Given the description of an element on the screen output the (x, y) to click on. 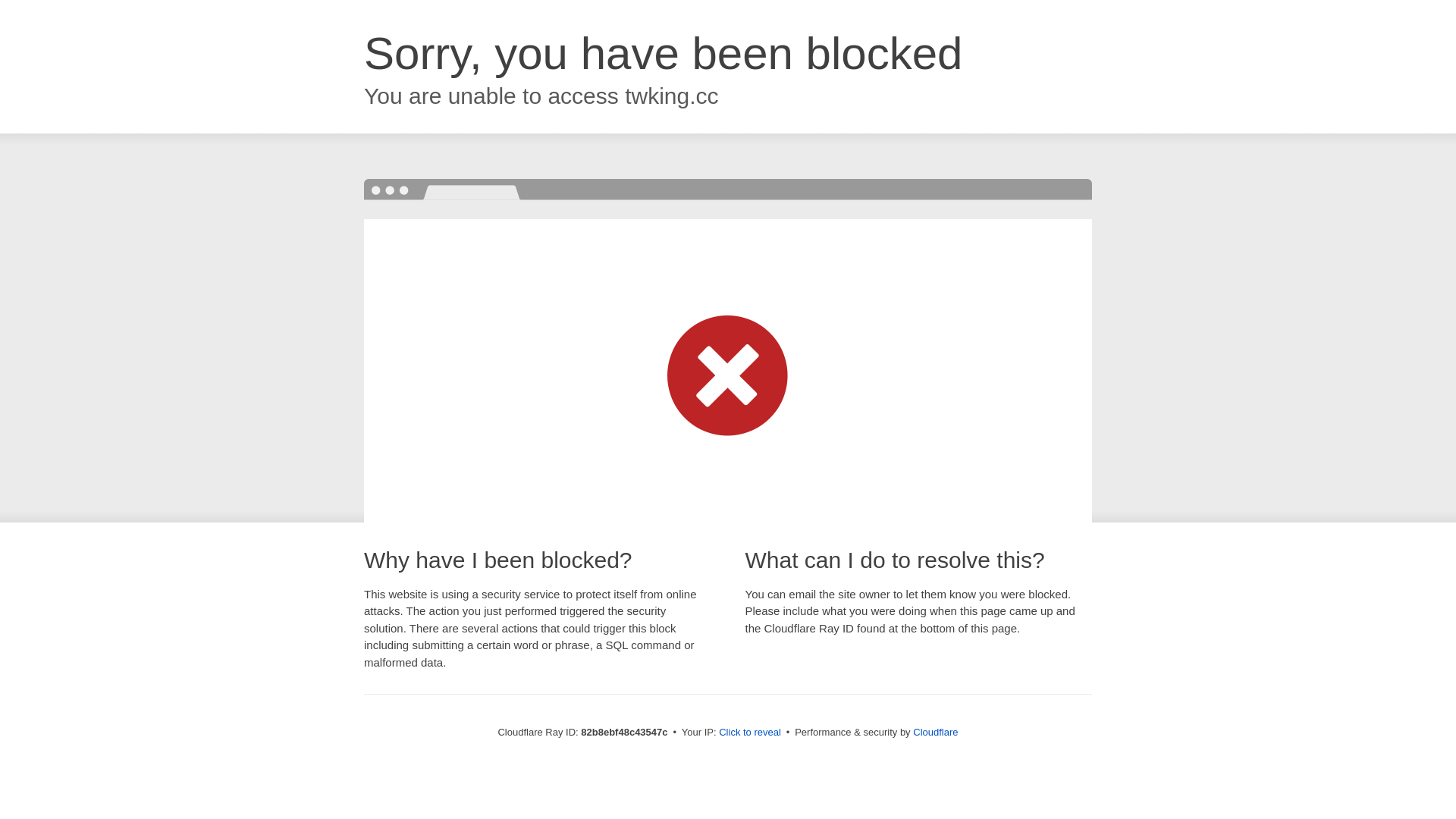
Click to reveal Element type: text (749, 732)
Cloudflare Element type: text (935, 731)
